Given the description of an element on the screen output the (x, y) to click on. 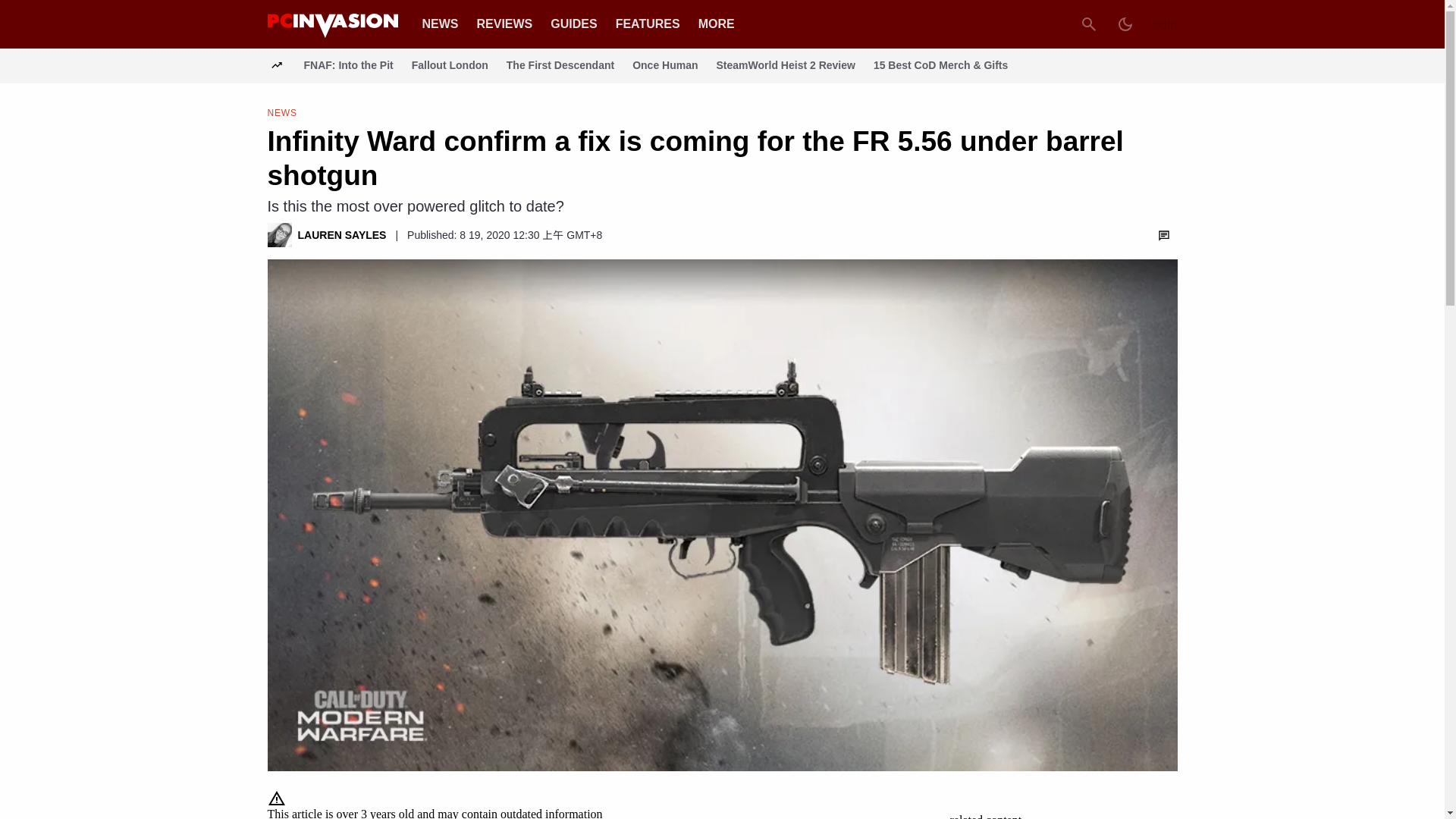
Dark Mode (1124, 24)
REVIEWS (504, 23)
FNAF: Into the Pit (347, 64)
FEATURES (647, 23)
NEWS (440, 23)
GUIDES (573, 23)
Search (1088, 24)
The First Descendant (560, 64)
Fallout London (449, 64)
Login (1162, 24)
